Given the description of an element on the screen output the (x, y) to click on. 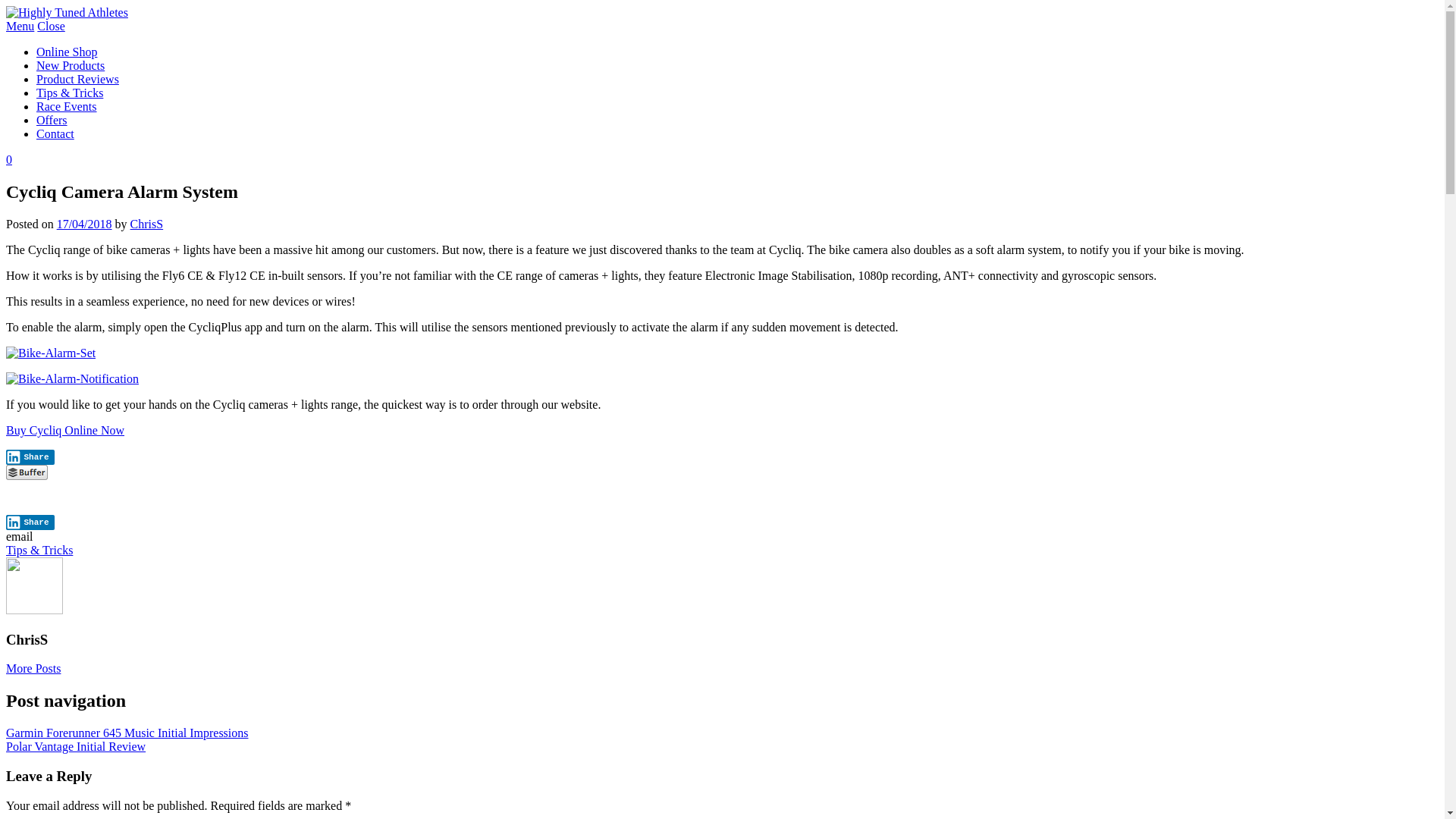
Garmin Forerunner 645 Music Initial Impressions Element type: text (127, 732)
More Posts Element type: text (33, 668)
Buy Cycliq Online Now Element type: text (65, 429)
Contact Element type: text (55, 133)
Product Reviews Element type: text (77, 78)
Menu Element type: text (20, 25)
Online Shop Element type: text (66, 51)
Close Element type: text (50, 25)
ChrisS Element type: text (146, 223)
Race Events Element type: text (66, 106)
Offers Element type: text (51, 119)
Highly Tuned Athletes Element type: hover (67, 12)
0 Element type: text (9, 159)
Tips & Tricks Element type: text (39, 549)
Polar Vantage Initial Review Element type: text (75, 746)
Tips & Tricks Element type: text (69, 92)
Share Element type: text (30, 456)
Share Element type: text (30, 522)
New Products Element type: text (70, 65)
17/04/2018 Element type: text (84, 223)
